Given the description of an element on the screen output the (x, y) to click on. 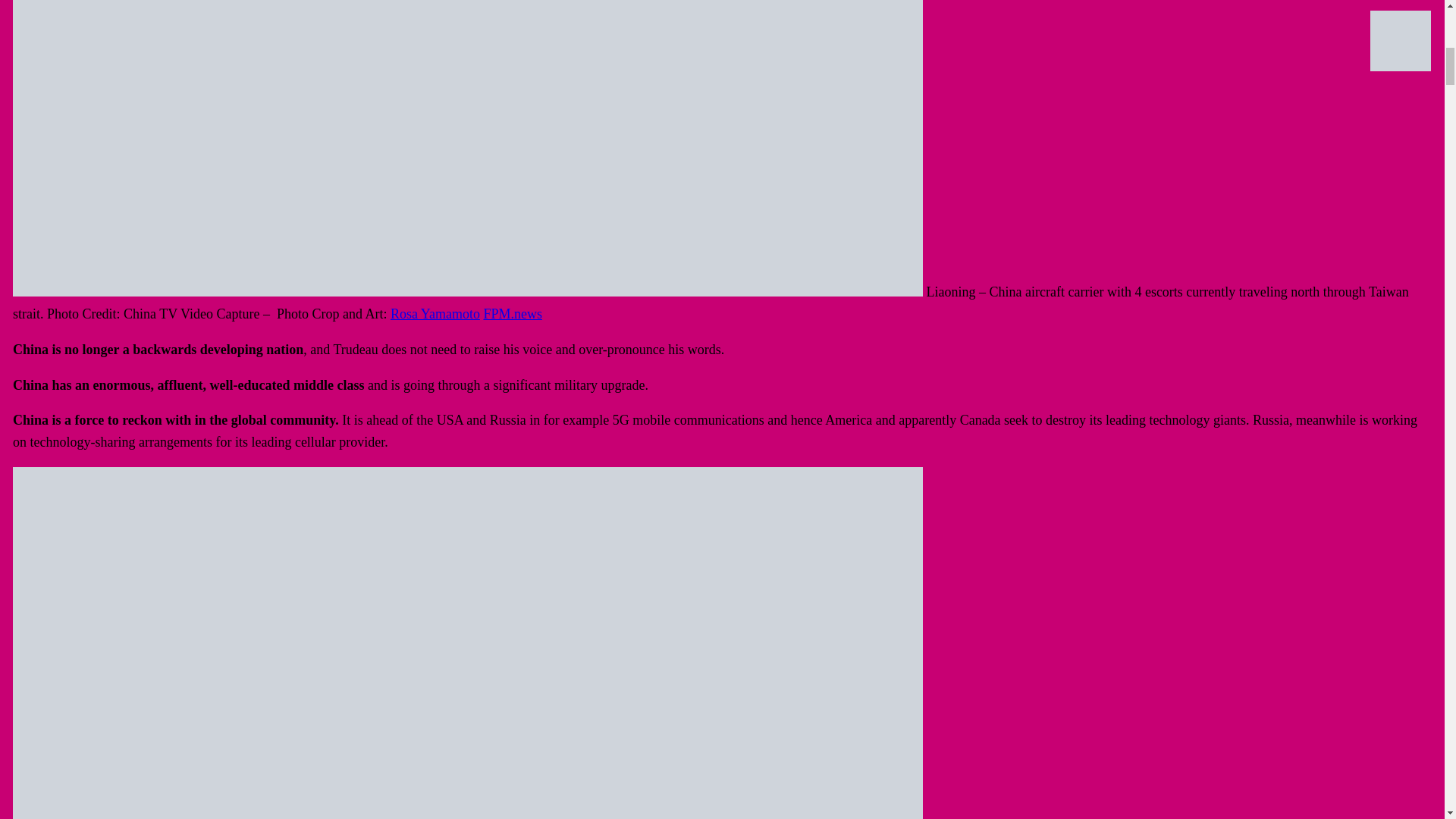
Rosa Yamamoto (435, 313)
FPM.news (512, 313)
